Given the description of an element on the screen output the (x, y) to click on. 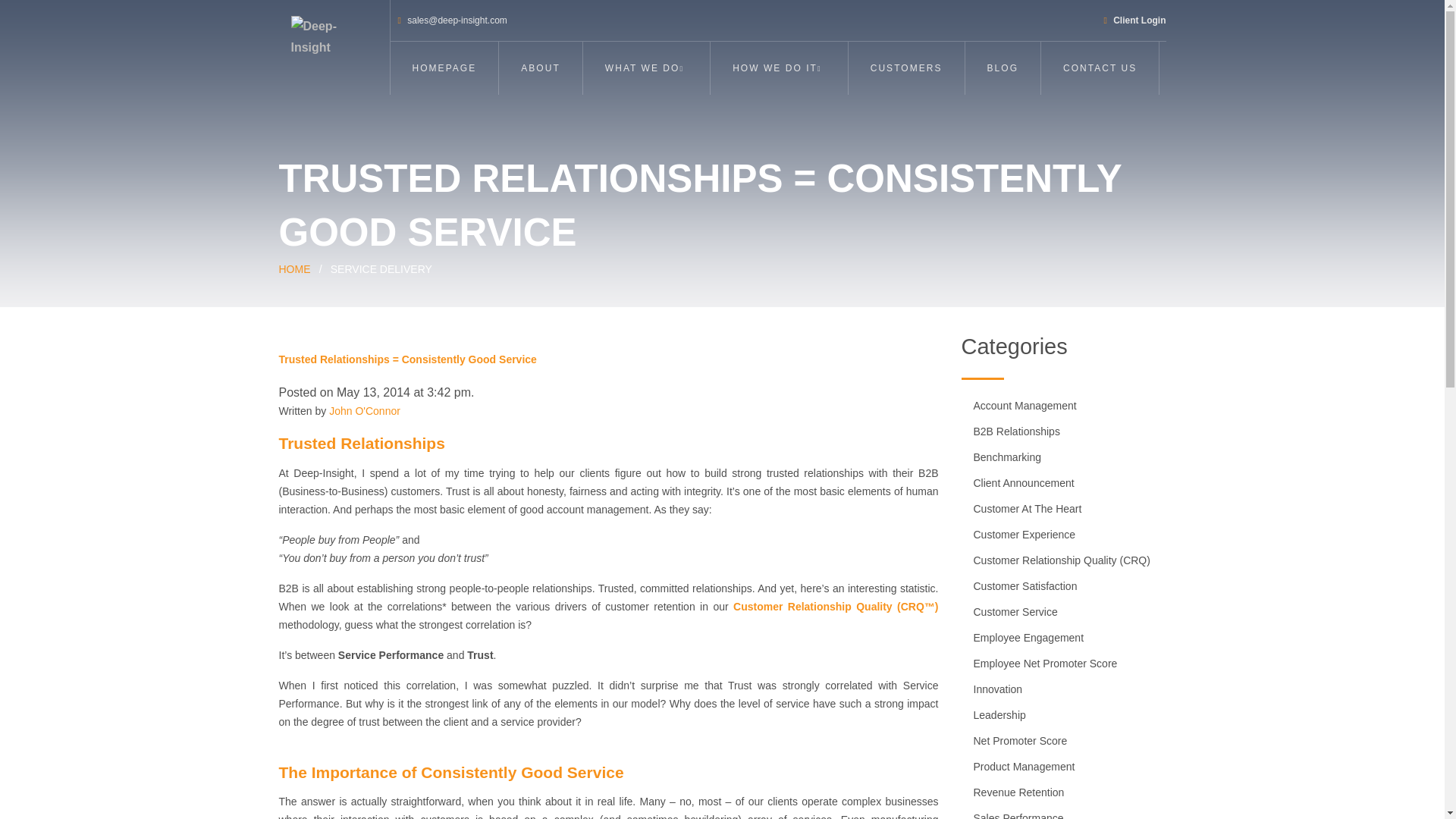
Client Login (1134, 20)
Home (295, 268)
ABOUT (540, 68)
CONTACT US (1099, 68)
John O'Connor (364, 410)
CUSTOMERS (905, 68)
HOMEPAGE (443, 68)
WHAT WE DO (646, 68)
HOME (295, 268)
HOW WE DO IT (778, 68)
BLOG (1002, 68)
